Given the description of an element on the screen output the (x, y) to click on. 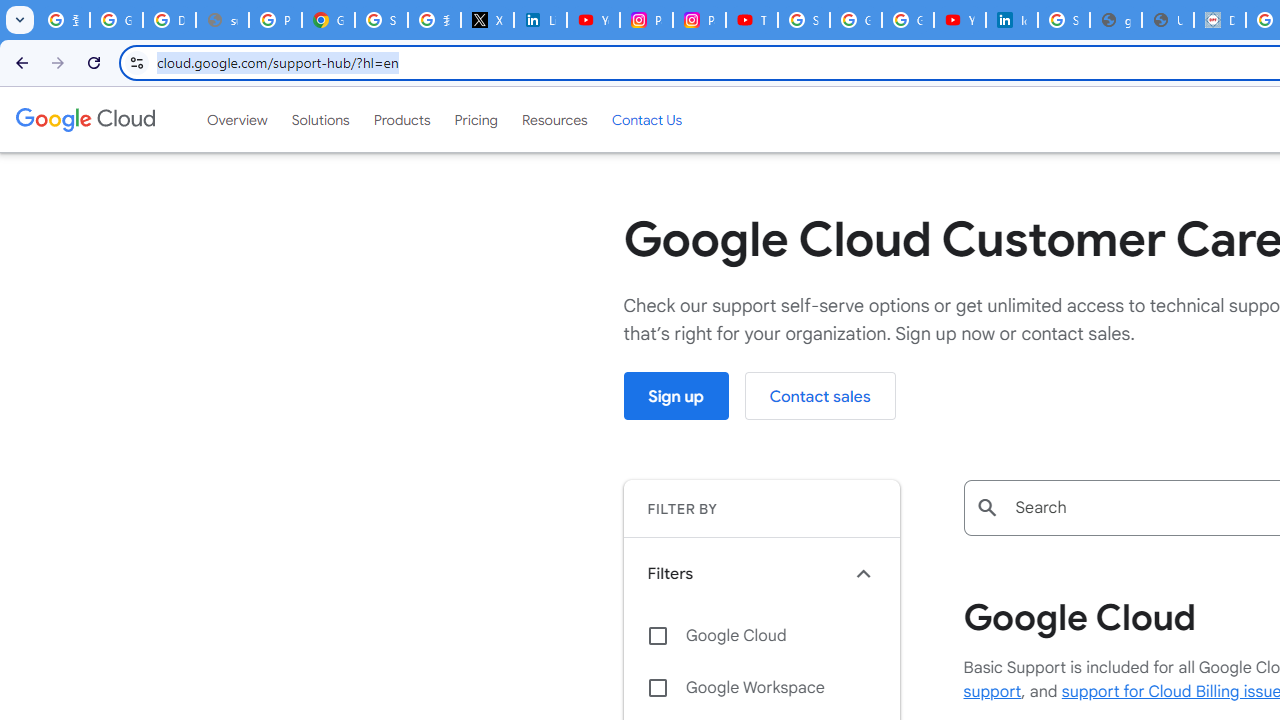
Sign in - Google Accounts (1064, 20)
google_privacy_policy_en.pdf (1115, 20)
LinkedIn Privacy Policy (540, 20)
Contact sales (819, 395)
Pricing (476, 119)
Solutions (320, 119)
Data Privacy Framework (1219, 20)
Products (401, 119)
Sign up (676, 395)
